Given the description of an element on the screen output the (x, y) to click on. 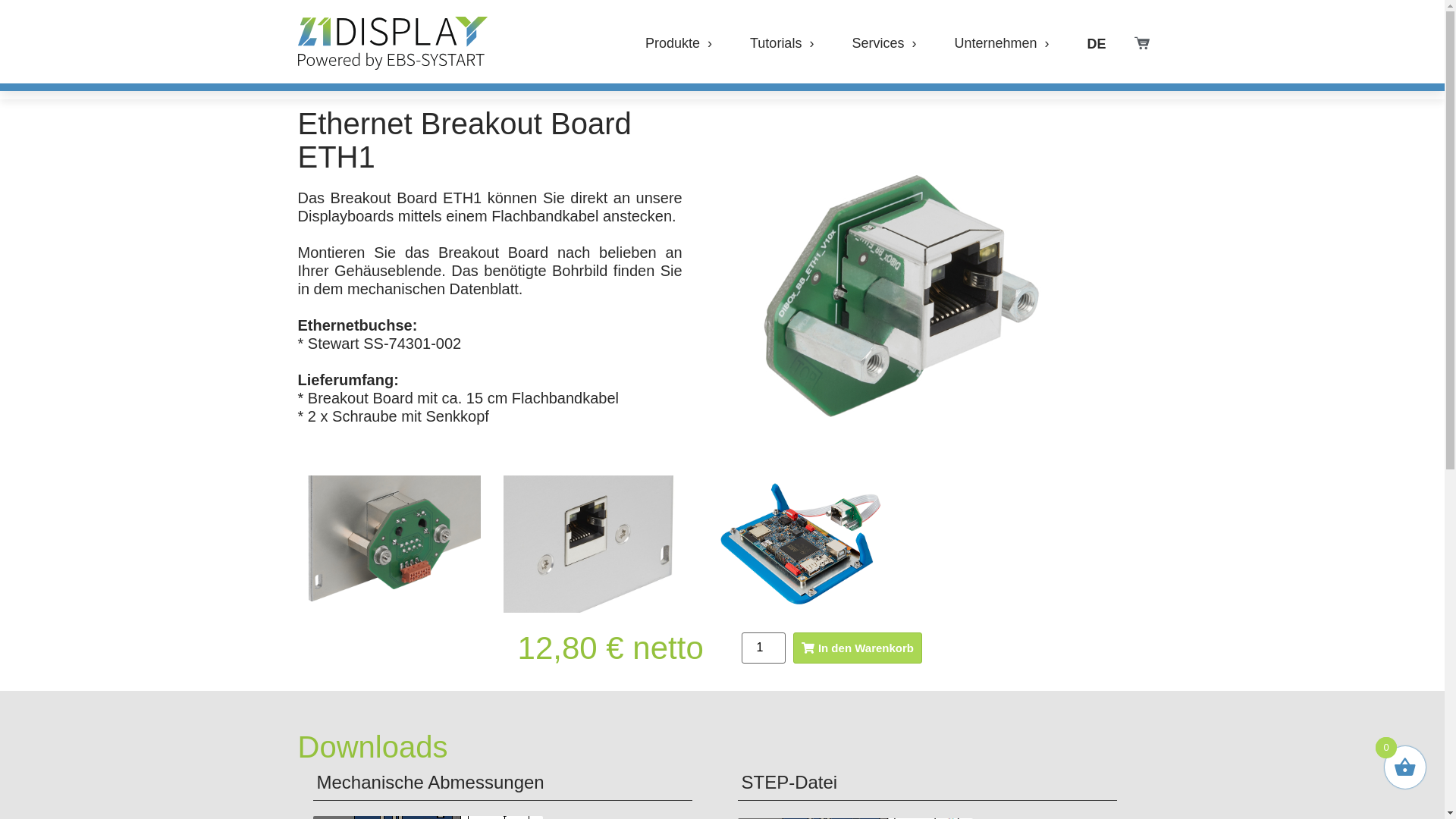
In den Warenkorb Element type: text (857, 647)
DE Element type: text (1099, 43)
